Given the description of an element on the screen output the (x, y) to click on. 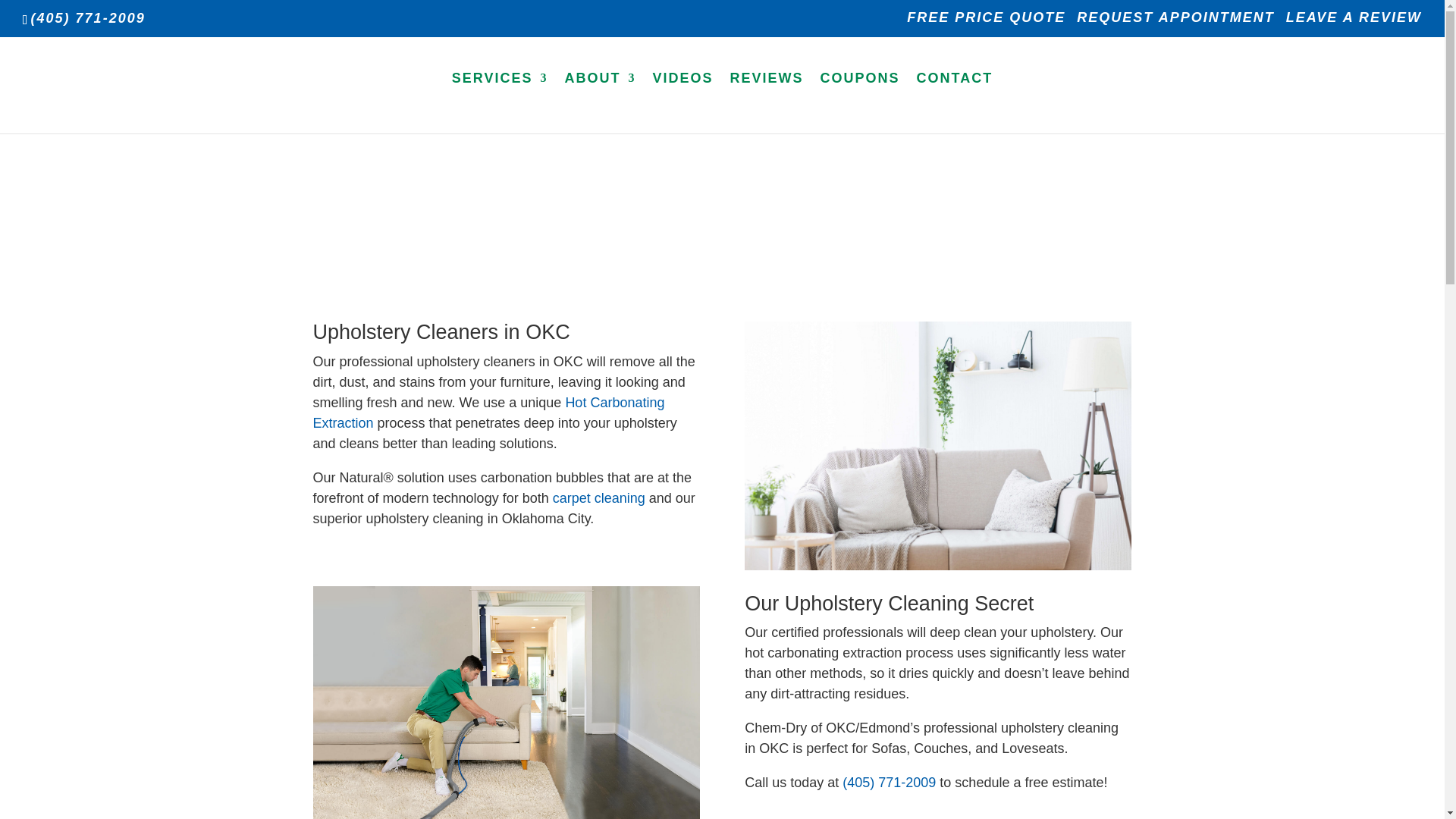
REQUEST APPOINTMENT (1175, 22)
REVIEWS (766, 102)
SERVICES (499, 102)
VIDEOS (682, 102)
Carpet Cleaning Coupons (860, 102)
FREE PRICE QUOTE (986, 22)
ABOUT (599, 102)
COUPONS (860, 102)
Hot Carbonating Extraction (488, 412)
carpet cleaning (599, 498)
